Given the description of an element on the screen output the (x, y) to click on. 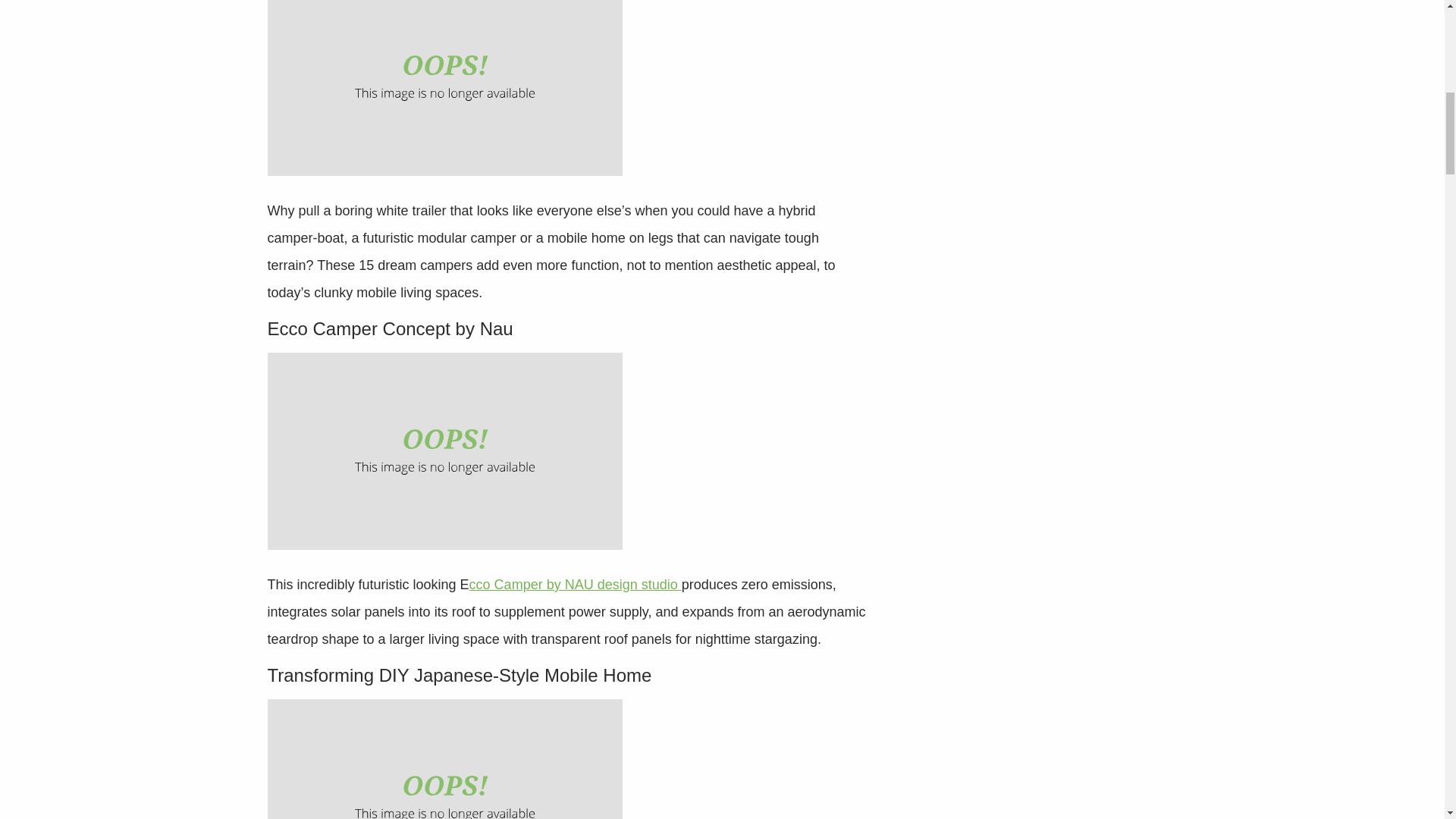
Crazy Campers Transforming DIY (443, 759)
cco Camper by NAU design studio (574, 584)
Crazy Campers MAIN (443, 88)
Crazy Campers Ecco (443, 450)
